Given the description of an element on the screen output the (x, y) to click on. 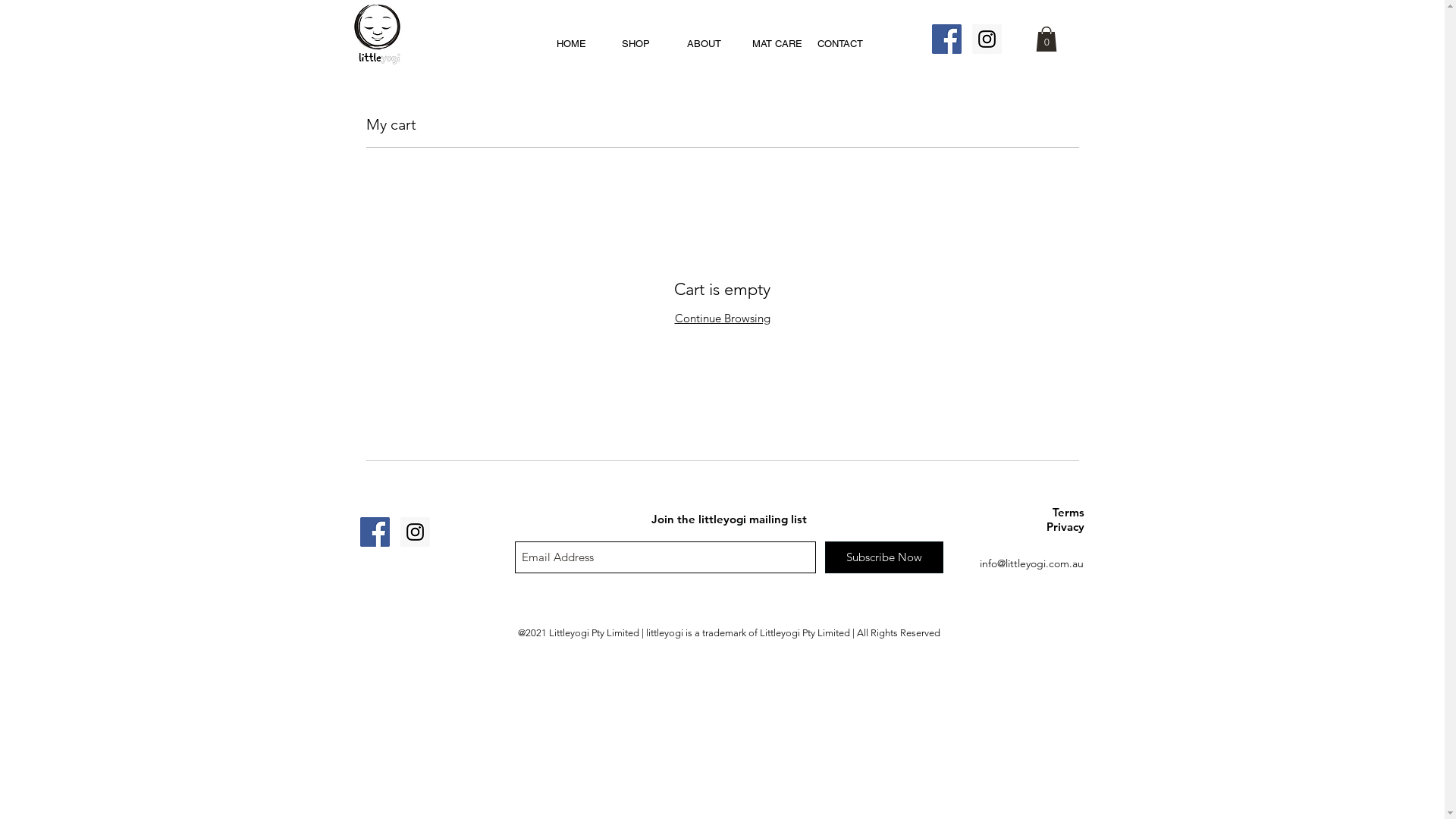
HOME Element type: text (581, 43)
littleyogi.png Element type: hover (376, 34)
Continue Browsing Element type: text (722, 317)
Subscribe Now Element type: text (884, 557)
ABOUT Element type: text (711, 43)
SHOP Element type: text (646, 43)
Terms Element type: text (1068, 512)
0 Element type: text (1046, 38)
info@littleyogi.com.au Element type: text (1031, 563)
CONTACT Element type: text (842, 43)
Privacy Element type: text (1065, 526)
MAT CARE Element type: text (776, 43)
